Given the description of an element on the screen output the (x, y) to click on. 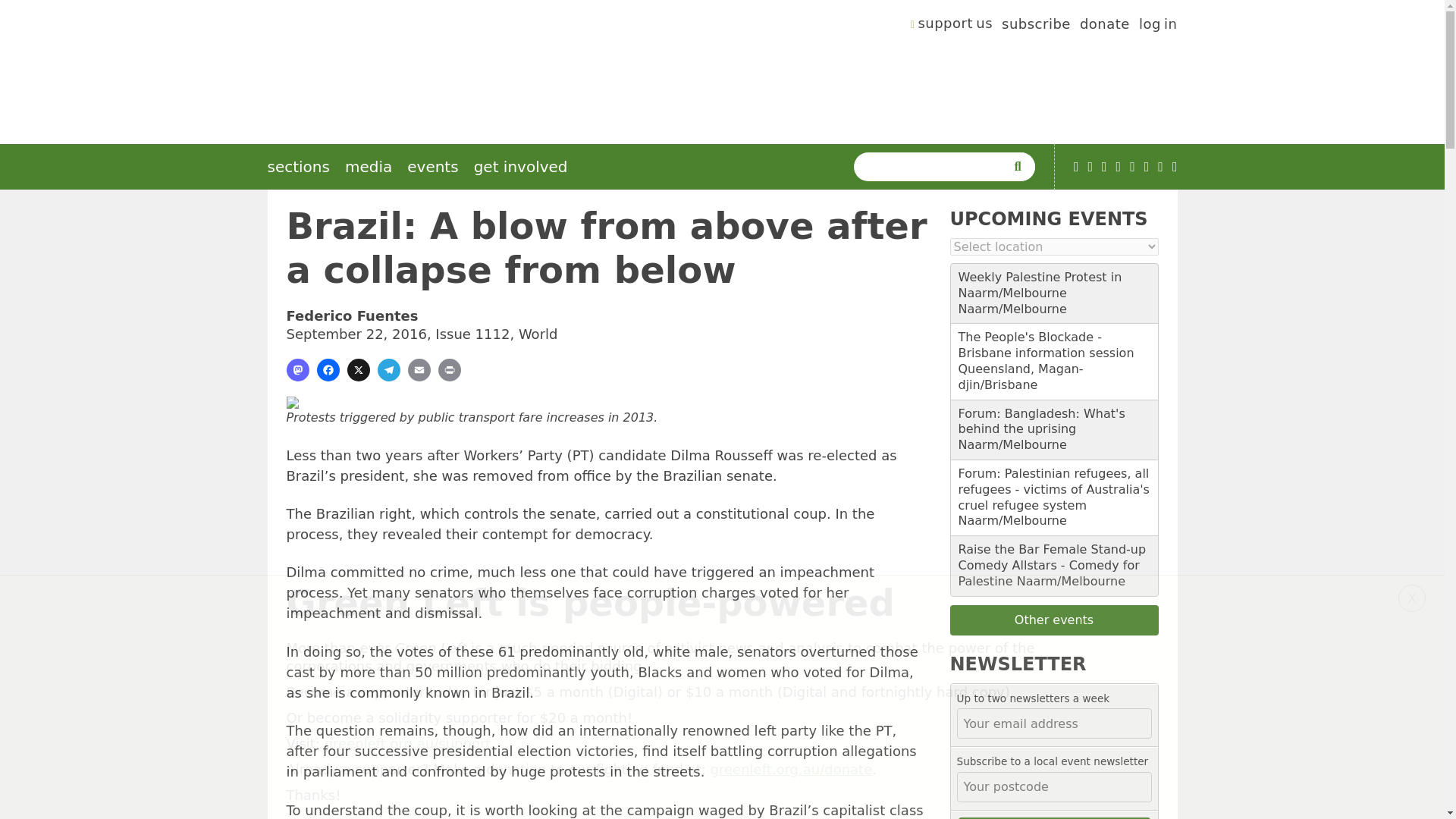
donate (1104, 26)
log in (1157, 26)
Share on X (358, 369)
Print (449, 369)
Share on Telegram (388, 369)
Share on Facebook (328, 369)
Enter the terms you wish to search for. (932, 166)
share via email (418, 369)
subscribe (1035, 26)
